Given the description of an element on the screen output the (x, y) to click on. 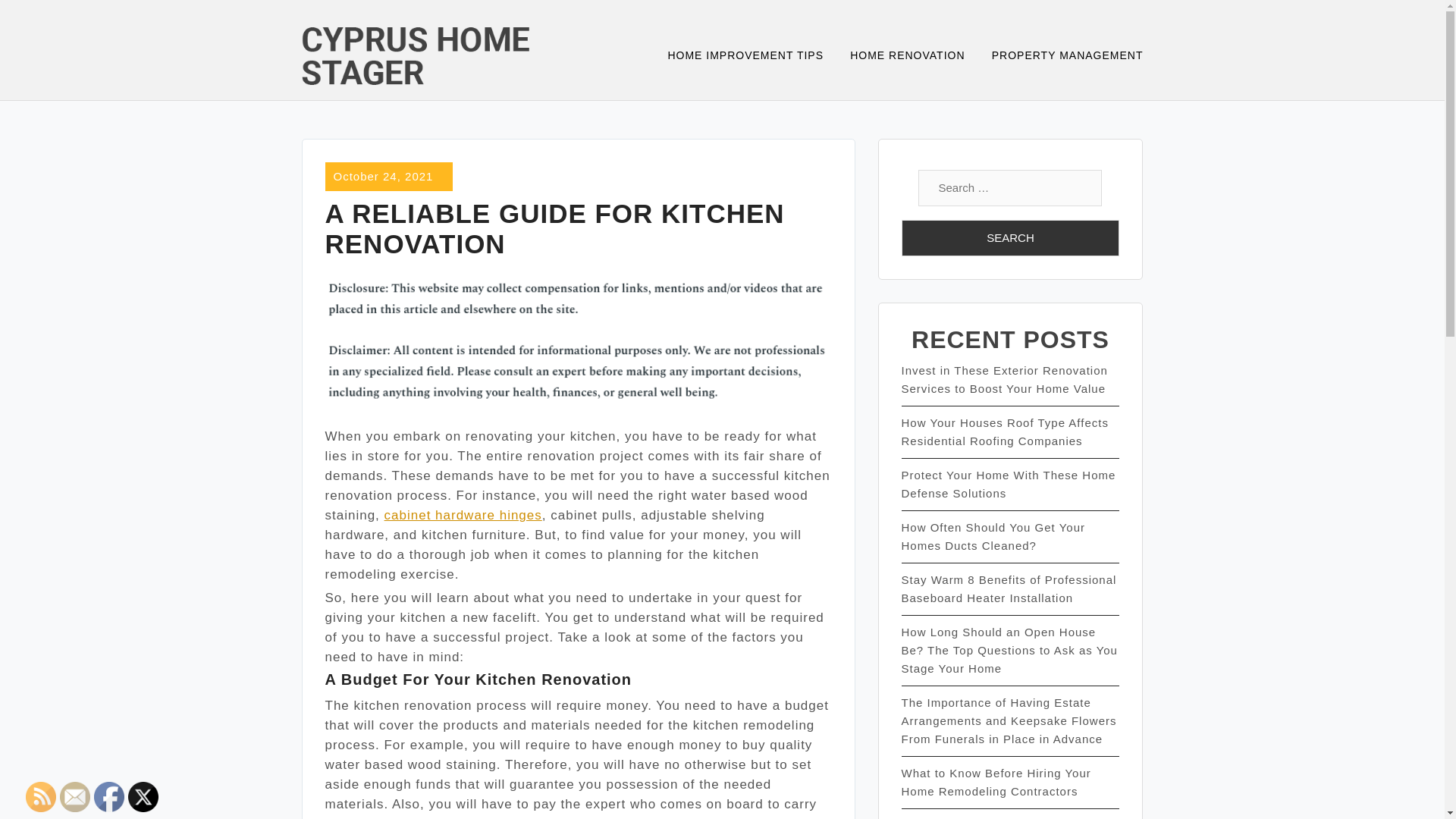
cabinet hardware hinges (462, 514)
HOME IMPROVEMENT TIPS (754, 55)
Protect Your Home With These Home Defense Solutions (1008, 483)
Search (1010, 238)
Search (1010, 238)
Great link (462, 514)
RSS (41, 797)
Facebook (108, 797)
PROPERTY MANAGEMENT (1066, 55)
Twitter (143, 797)
HOME RENOVATION (917, 55)
